Given the description of an element on the screen output the (x, y) to click on. 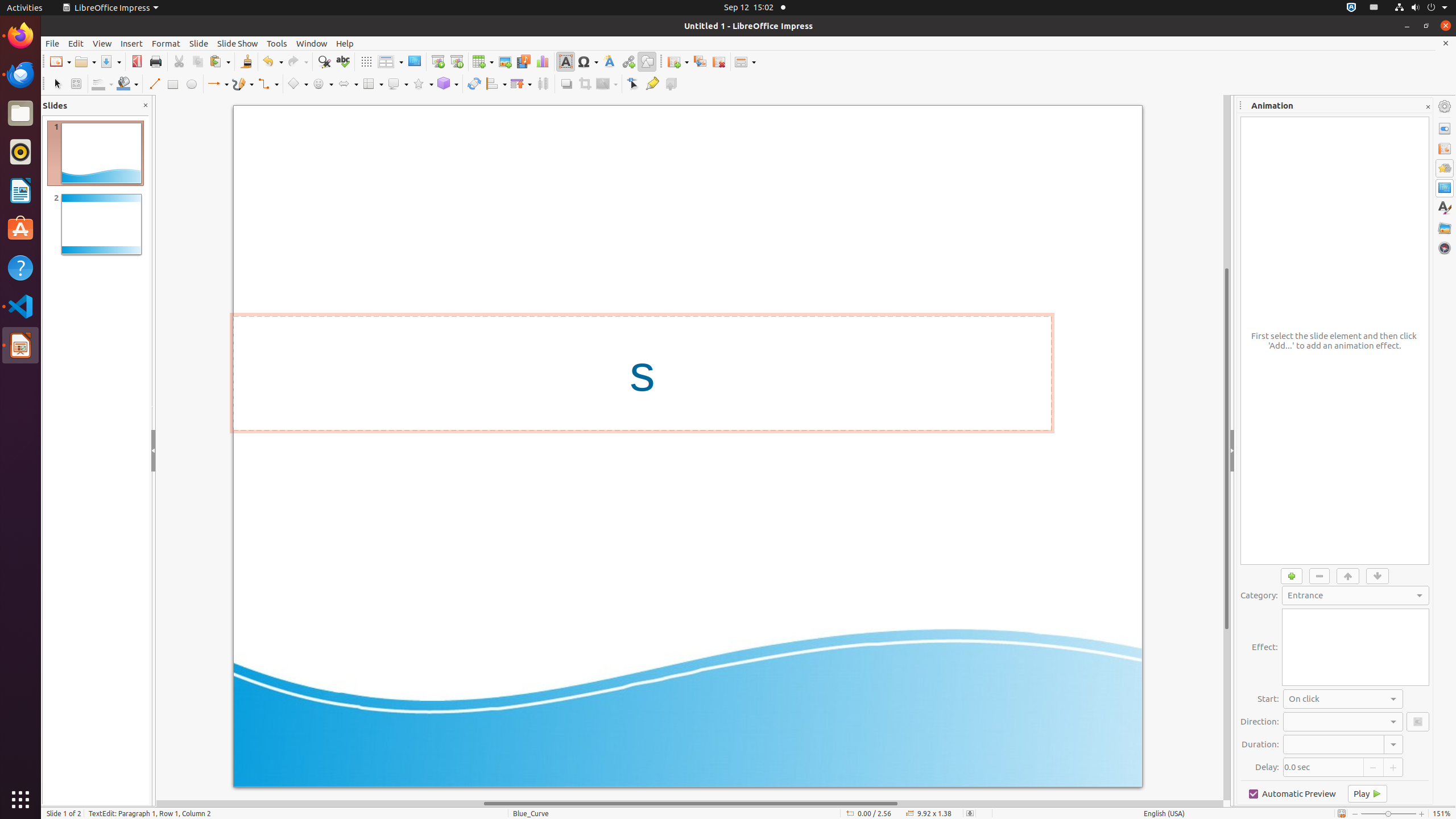
Spelling Element type: push-button (342, 61)
Grid Element type: toggle-button (365, 61)
Move Up Element type: push-button (1347, 576)
Save Element type: push-button (109, 61)
